Given the description of an element on the screen output the (x, y) to click on. 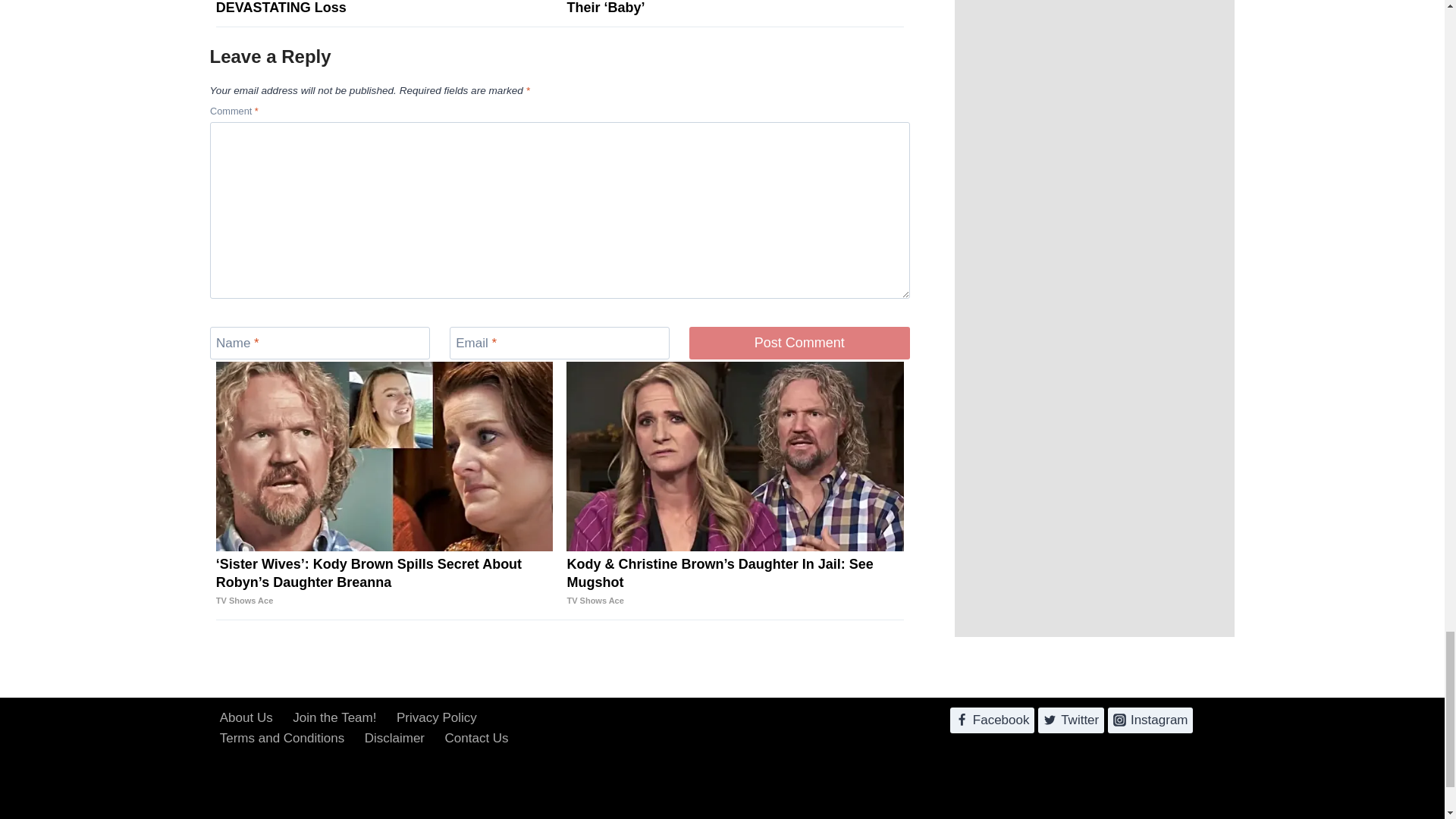
Post Comment (799, 342)
